Given the description of an element on the screen output the (x, y) to click on. 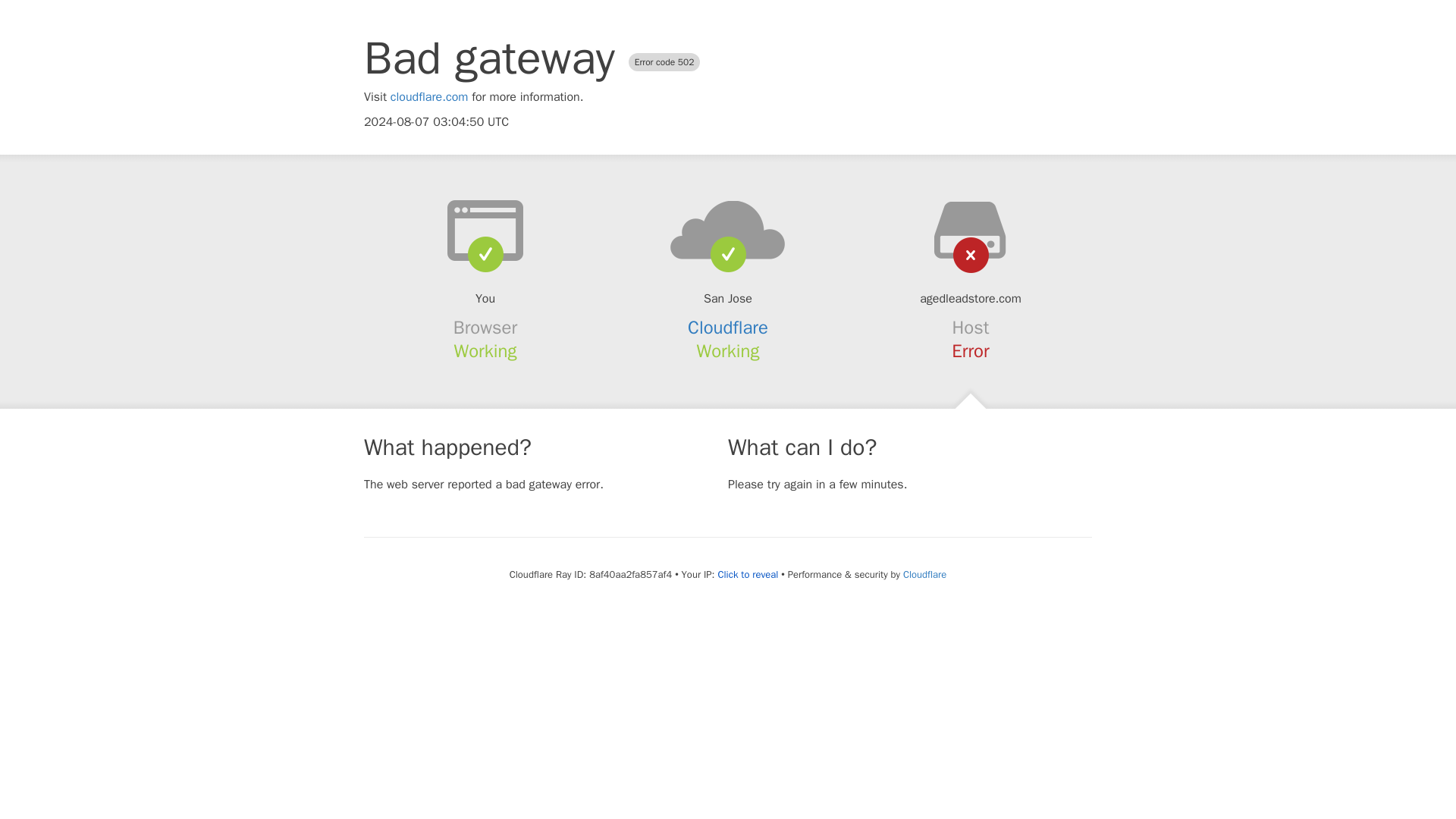
Cloudflare (727, 327)
Cloudflare (924, 574)
cloudflare.com (429, 96)
Click to reveal (747, 574)
